Given the description of an element on the screen output the (x, y) to click on. 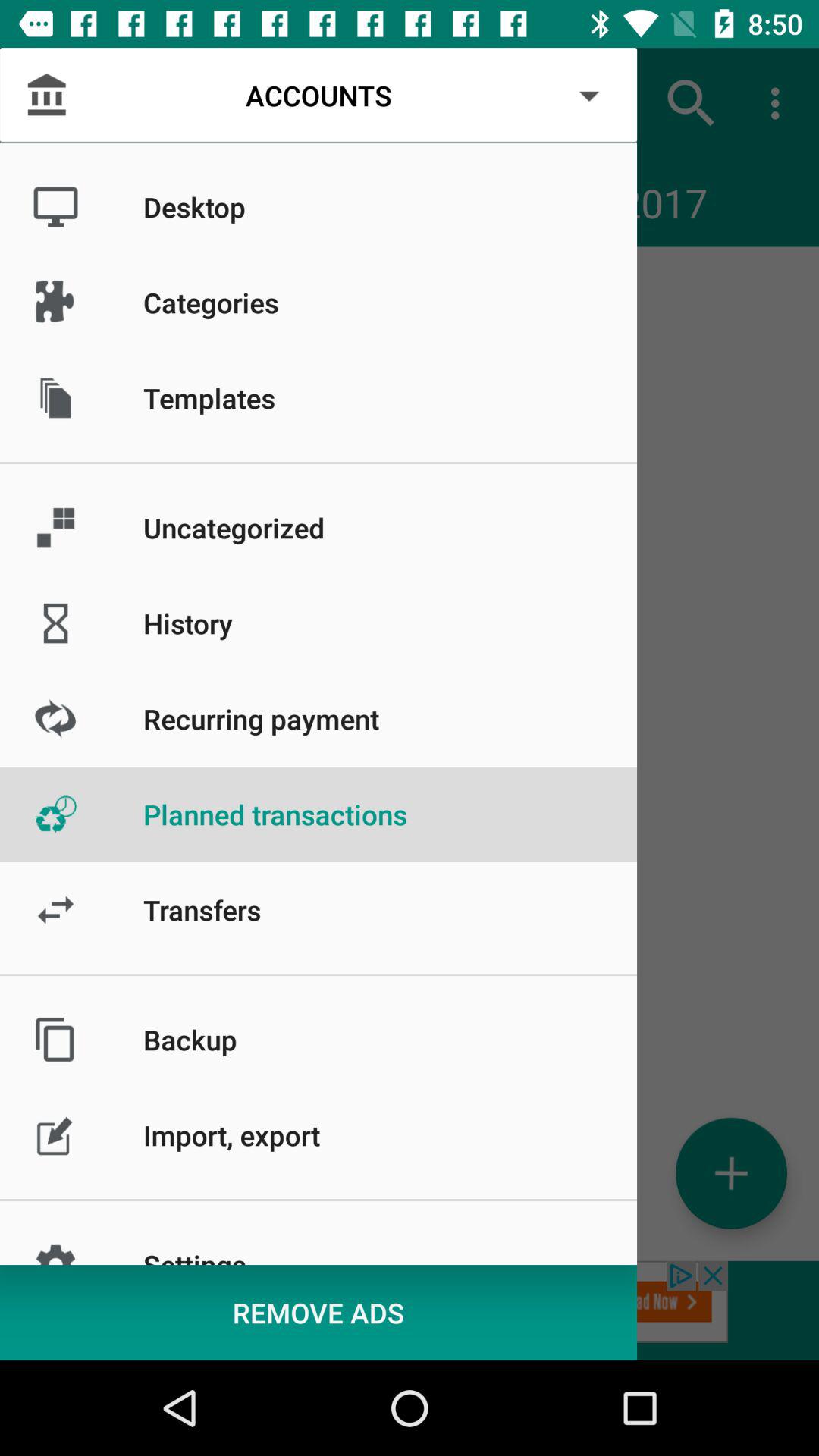
turn on icon below 02/2017 item (731, 1173)
